Given the description of an element on the screen output the (x, y) to click on. 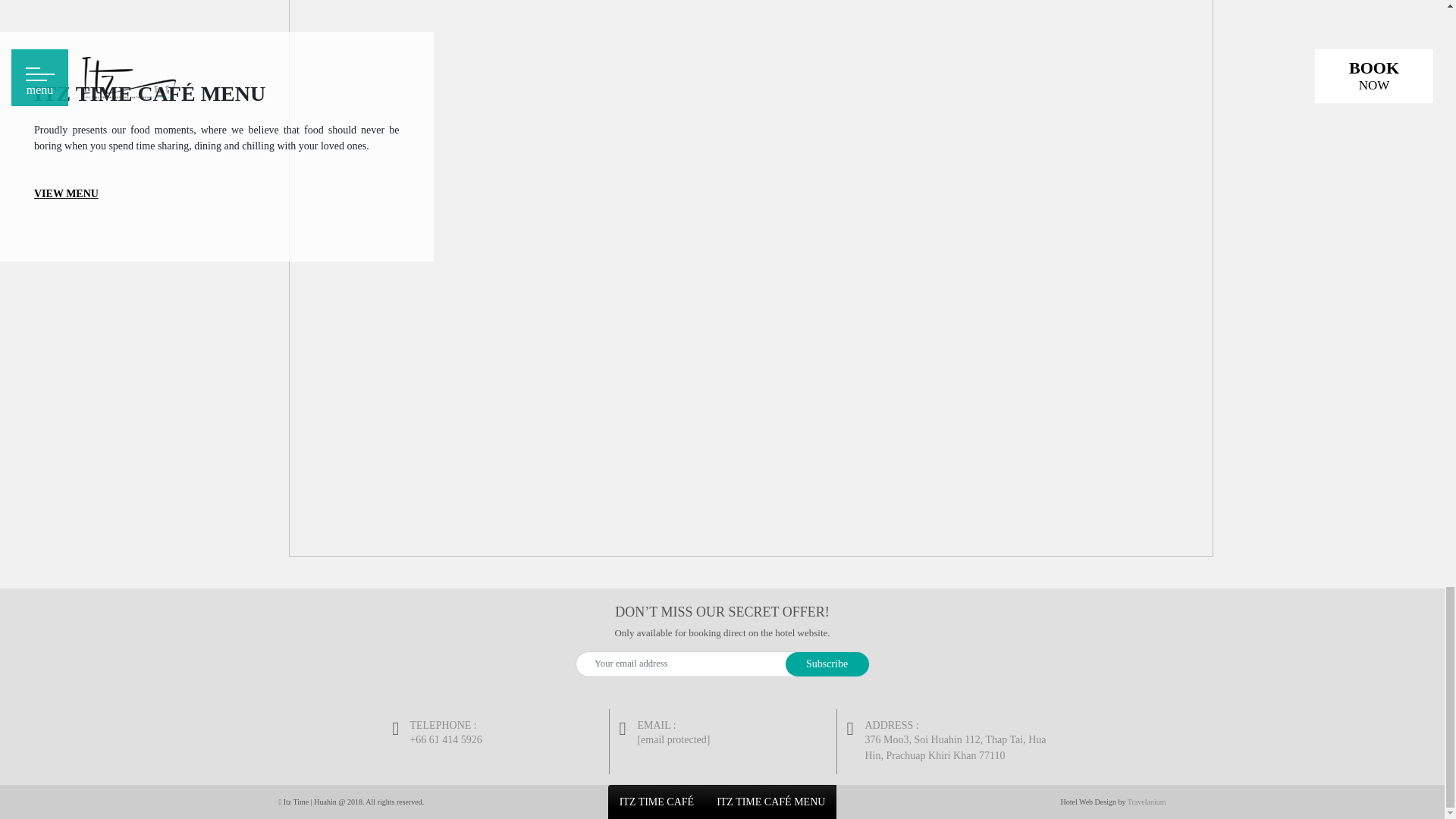
VIEW MENU (66, 193)
Subscribe (827, 663)
Travelanium (1146, 801)
travelanium (1146, 801)
